Given the description of an element on the screen output the (x, y) to click on. 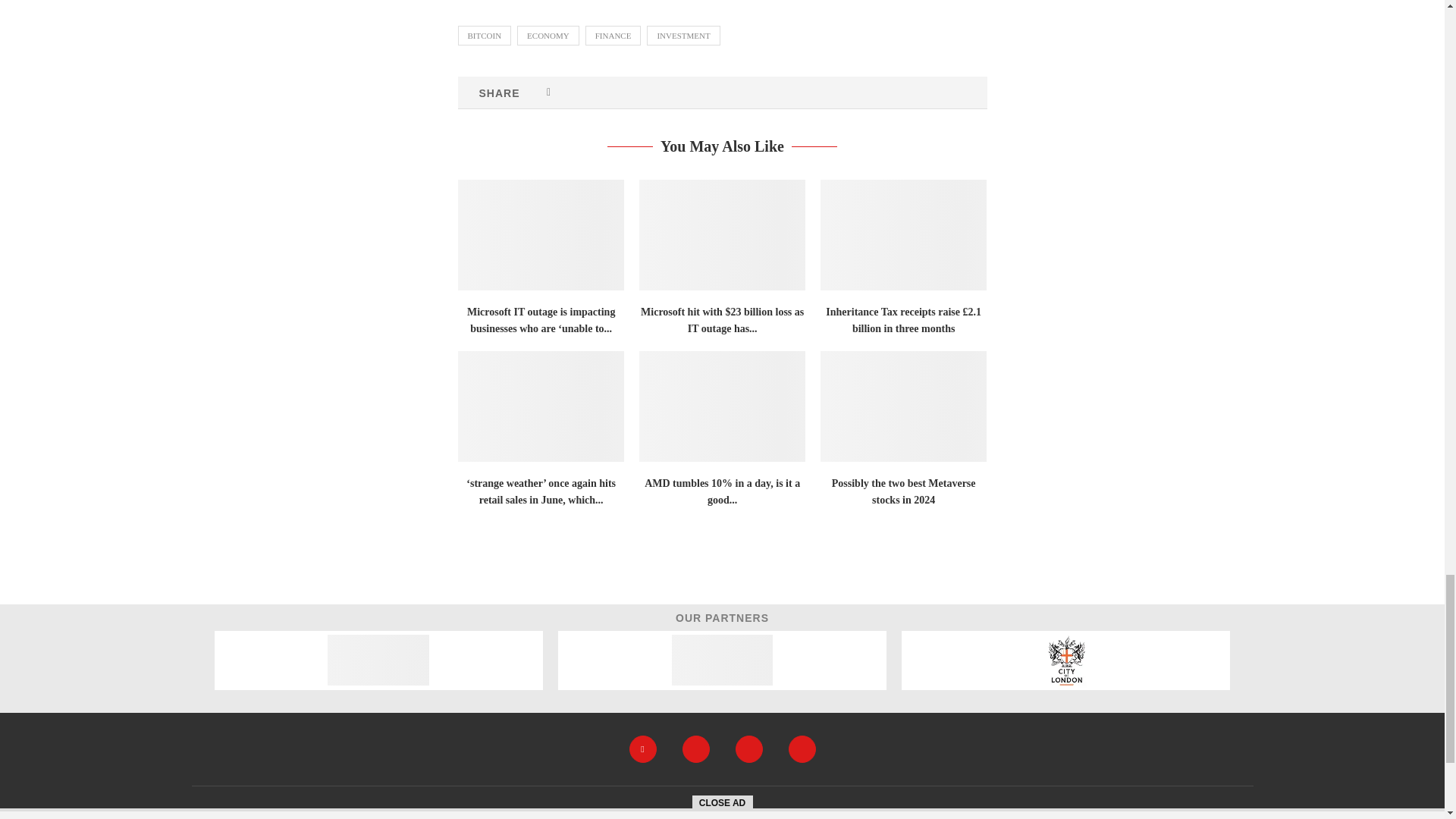
Possibly the two best Metaverse stocks in 2024 (904, 406)
